Given the description of an element on the screen output the (x, y) to click on. 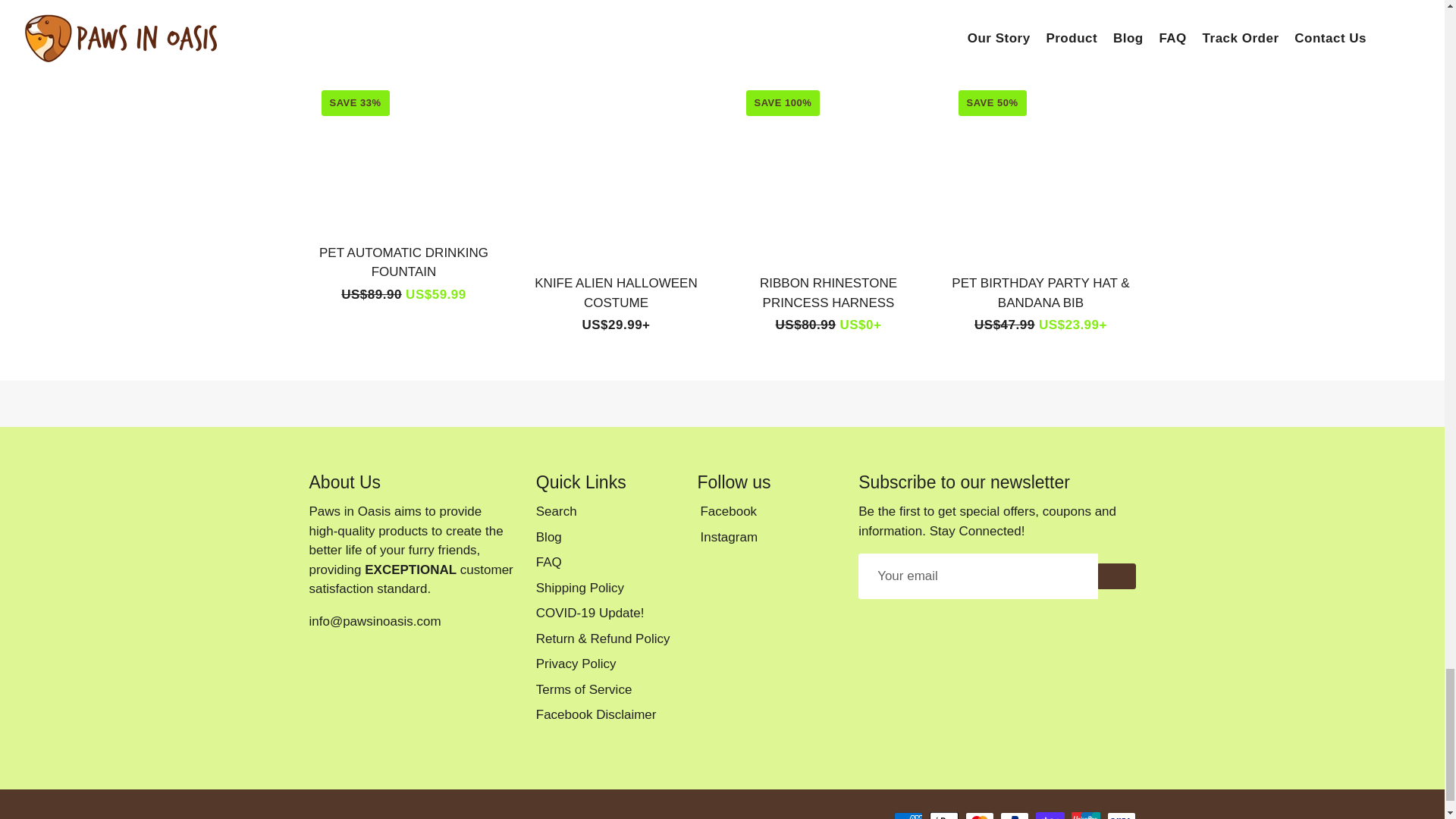
Apple Pay (944, 815)
Union Pay (1085, 815)
Paws in Oasis on Facebook (727, 511)
PayPal (1014, 815)
American Express (908, 815)
Visa (1120, 815)
Shop Pay (1049, 815)
Paws in Oasis on Instagram (727, 537)
Mastercard (979, 815)
